Given the description of an element on the screen output the (x, y) to click on. 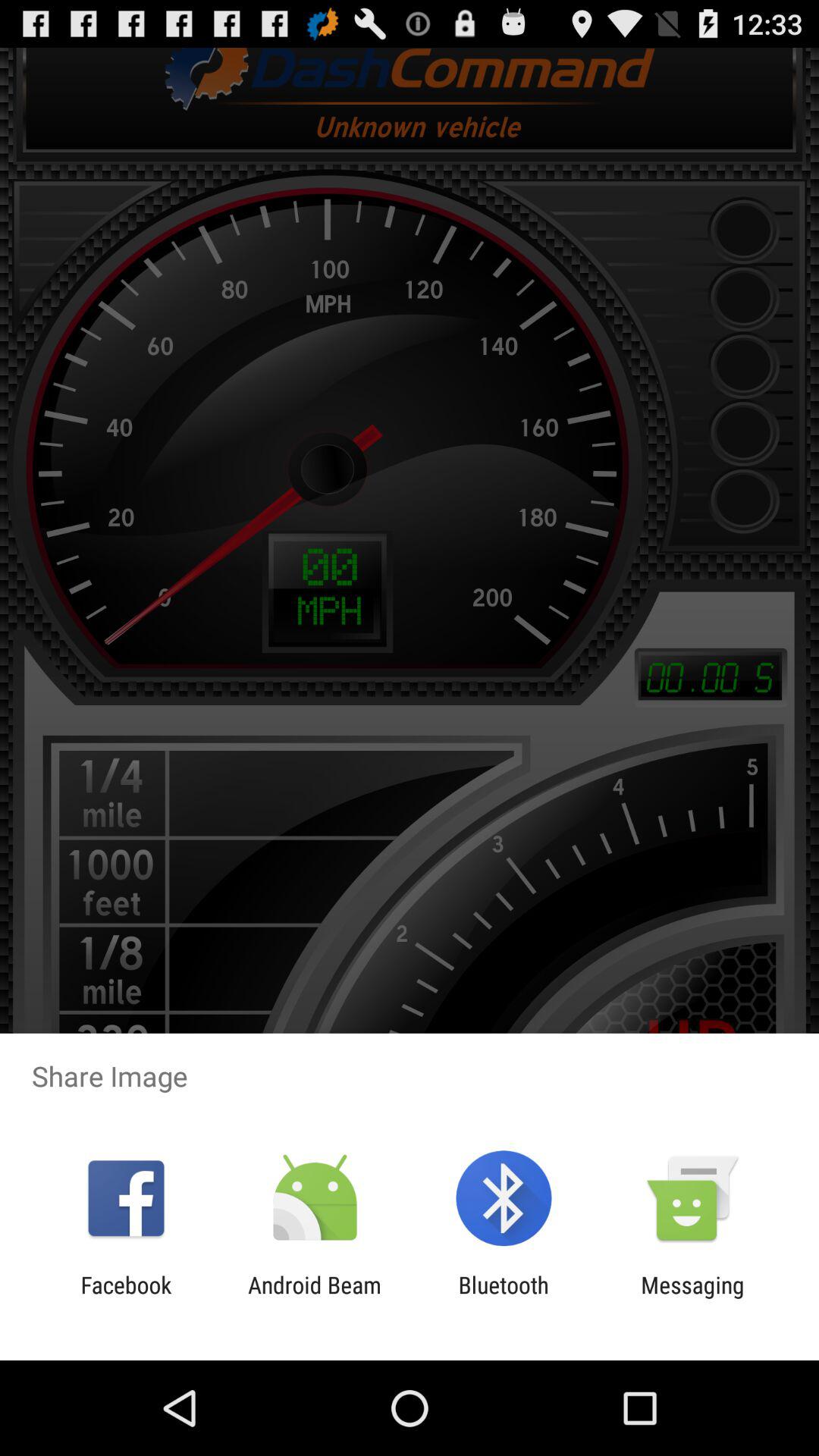
tap app to the right of the android beam app (503, 1298)
